Given the description of an element on the screen output the (x, y) to click on. 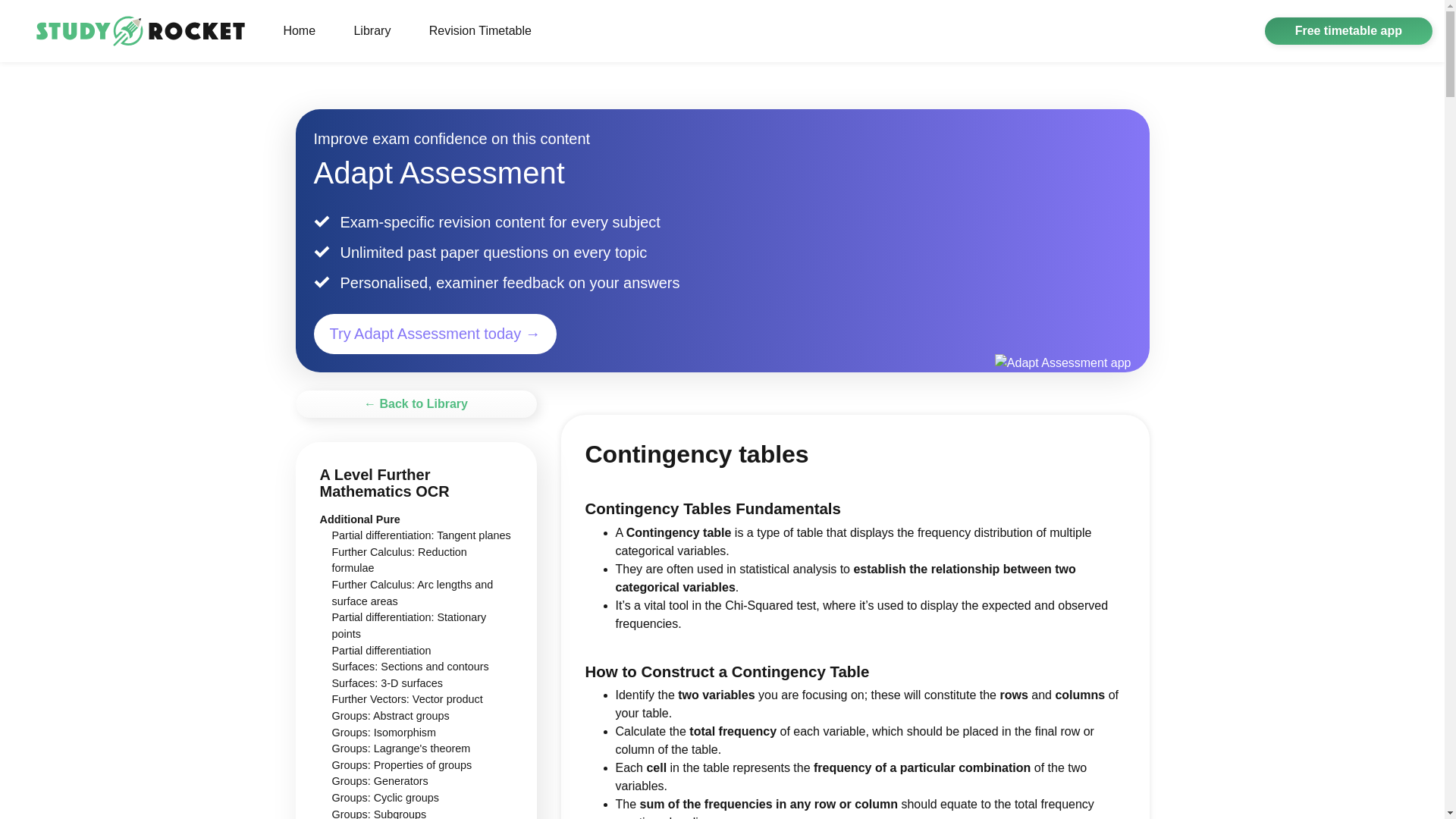
Groups: Abstract groups (390, 715)
Revision Timetable (479, 30)
Further Calculus: Arc lengths and surface areas (412, 592)
Partial differentiation: Tangent planes (421, 535)
Further Vectors: Vector product (407, 698)
Groups: Subgroups (378, 813)
Groups: Cyclic groups (385, 797)
Groups: Isomorphism (383, 732)
Partial differentiation: Stationary points (408, 624)
Further Calculus: Reduction formulae (399, 560)
Surfaces: 3-D surfaces (386, 683)
Partial differentiation (380, 650)
Home (298, 30)
Library (371, 30)
Groups: Properties of groups (401, 765)
